Given the description of an element on the screen output the (x, y) to click on. 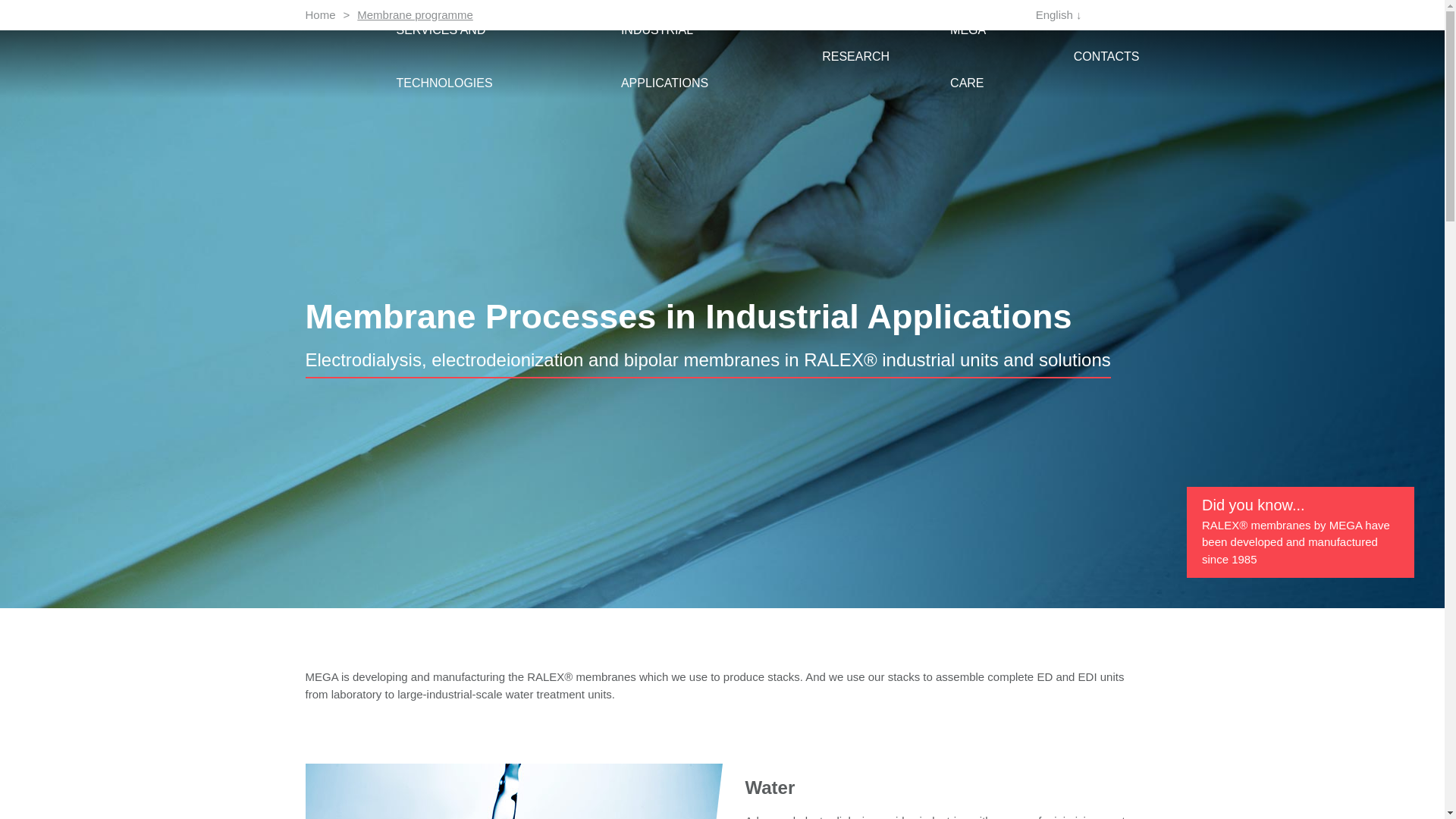
SERVICES AND TECHNOLOGIES (477, 56)
RESEARCH (855, 56)
Home (319, 14)
Membrane programme (414, 14)
CONTACTS (1107, 56)
INDUSTRIAL APPLICATIONS (691, 56)
